Given the description of an element on the screen output the (x, y) to click on. 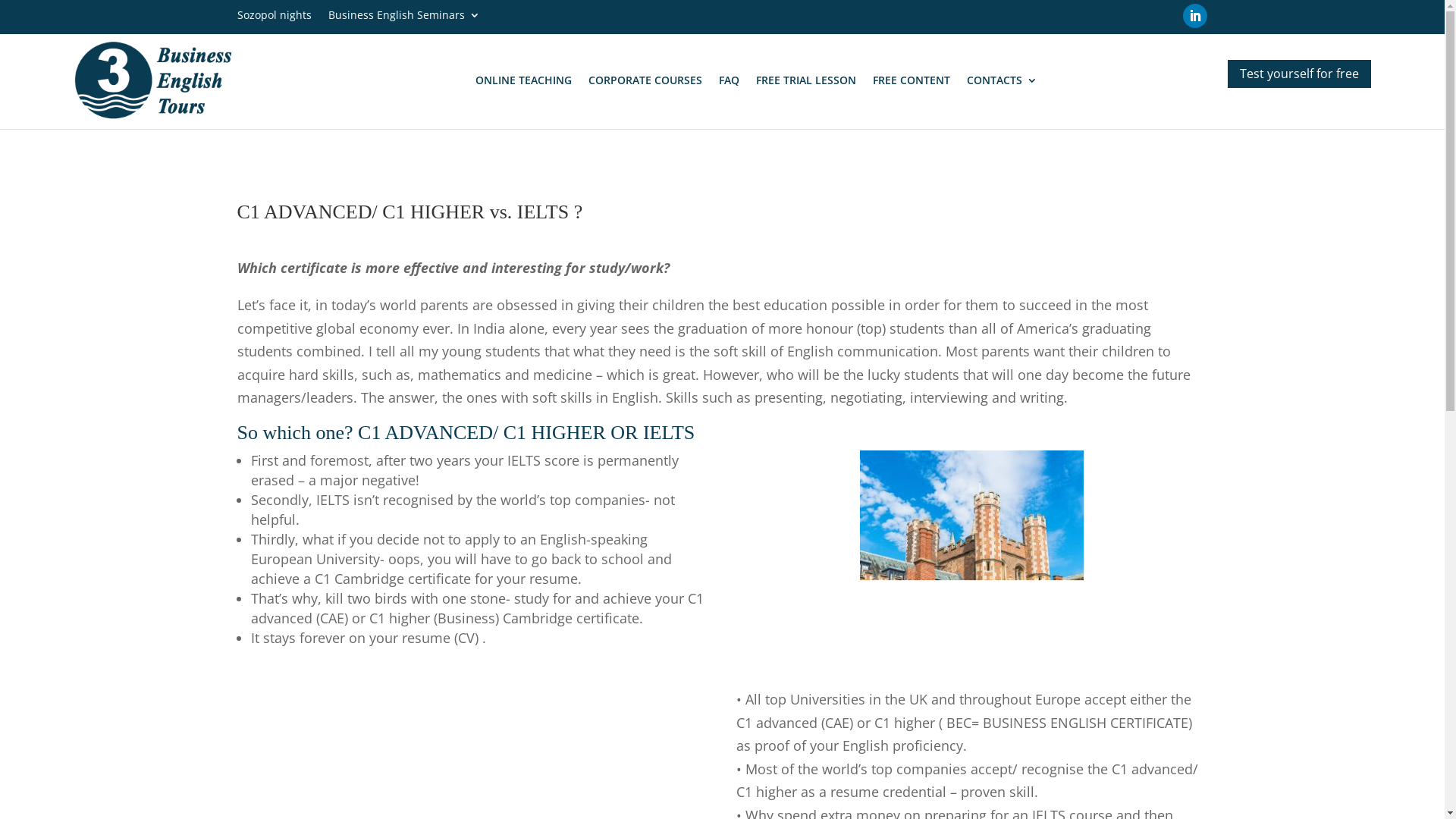
FAQ Element type: text (728, 79)
Business English Seminars Element type: text (403, 17)
CORPORATE COURSES Element type: text (645, 79)
Follow on LinkedIn Element type: hover (1195, 15)
Test yourself for free Element type: text (1299, 73)
CONTACTS Element type: text (1001, 79)
FREE TRIAL LESSON Element type: text (806, 79)
Sozopol nights Element type: text (273, 17)
ONLINE TEACHING Element type: text (523, 79)
FREE CONTENT Element type: text (911, 79)
